Given the description of an element on the screen output the (x, y) to click on. 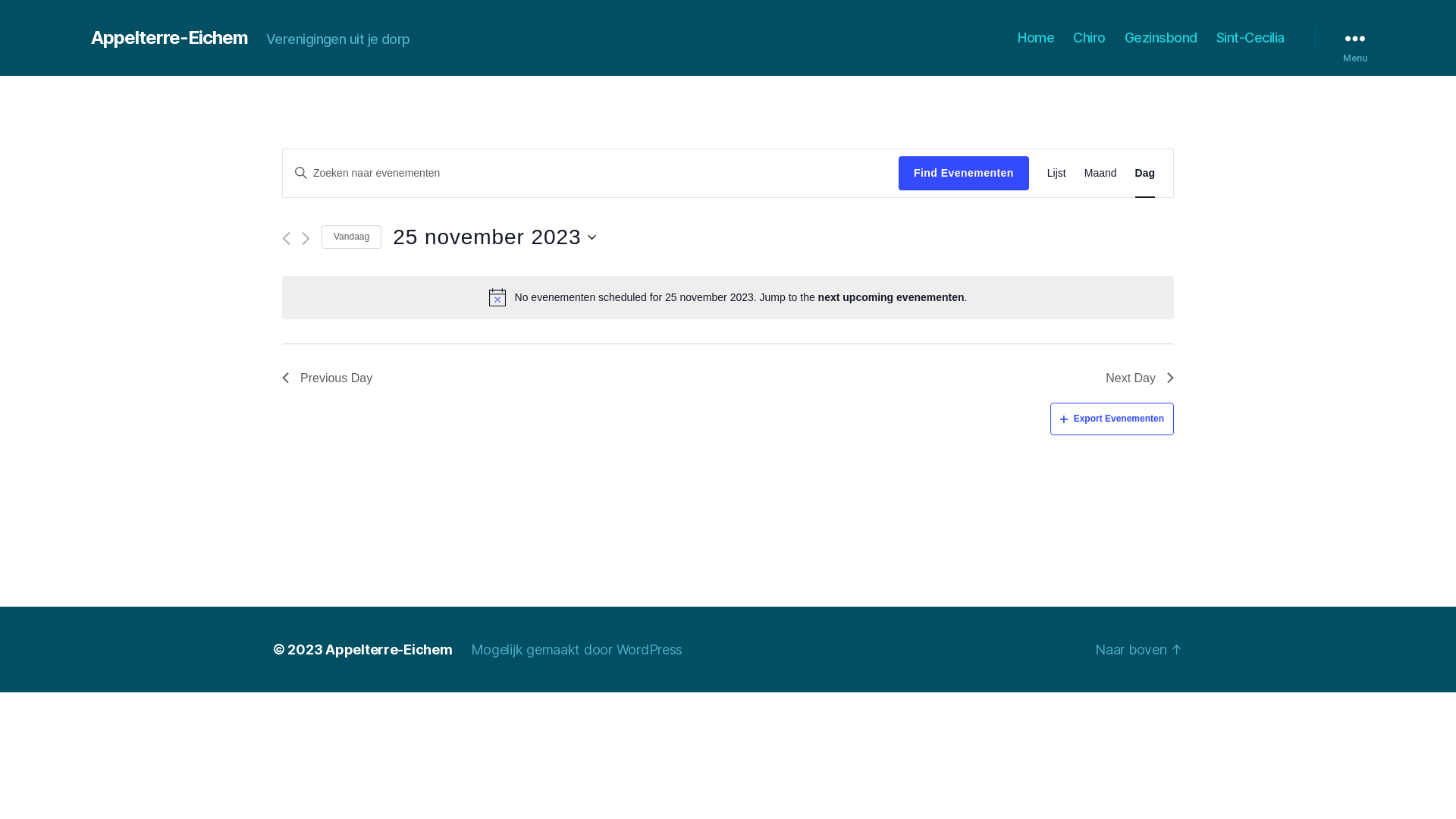
Previous day Element type: hover (286, 238)
Appelterre-Eichem Element type: text (388, 649)
Chiro Element type: text (1089, 37)
Previous Day Element type: text (327, 378)
Lijst Element type: text (1056, 173)
next upcoming evenementen Element type: text (891, 297)
Next day Element type: hover (305, 238)
Find Evenementen Element type: text (963, 173)
Export Evenementen Element type: text (1111, 418)
Gezinsbond Element type: text (1160, 37)
Next Day Element type: text (1139, 378)
Menu Element type: text (1354, 37)
Vandaag Element type: text (351, 236)
Appelterre-Eichem Element type: text (169, 37)
Sint-Cecilia Element type: text (1250, 37)
Maand Element type: text (1100, 173)
Home Element type: text (1035, 37)
Dag Element type: text (1144, 173)
Mogelijk gemaakt door WordPress Element type: text (576, 649)
25 november 2023 Element type: text (493, 237)
